Given the description of an element on the screen output the (x, y) to click on. 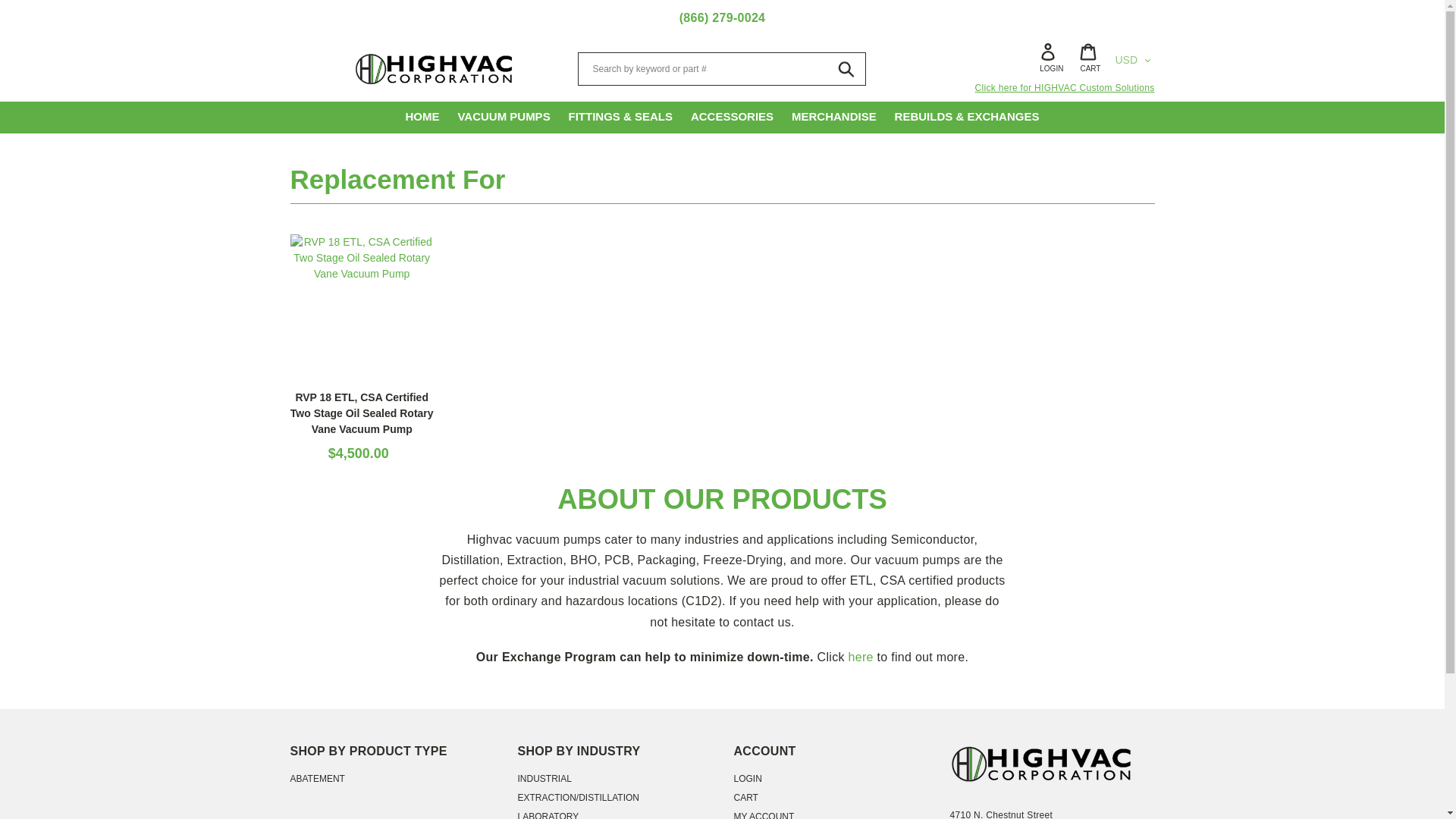
Log in (1050, 58)
ABATEMENT (316, 778)
VACUUM PUMPS (503, 116)
Click here for HIGHVAC Custom Solutions (1010, 87)
CART (745, 797)
Submit (847, 68)
ACCESSORIES (731, 116)
LOGIN (747, 778)
MERCHANDISE (833, 116)
HOME (421, 116)
LABORATORY (547, 815)
here (859, 656)
Cart (1089, 58)
INDUSTRIAL (543, 778)
